Given the description of an element on the screen output the (x, y) to click on. 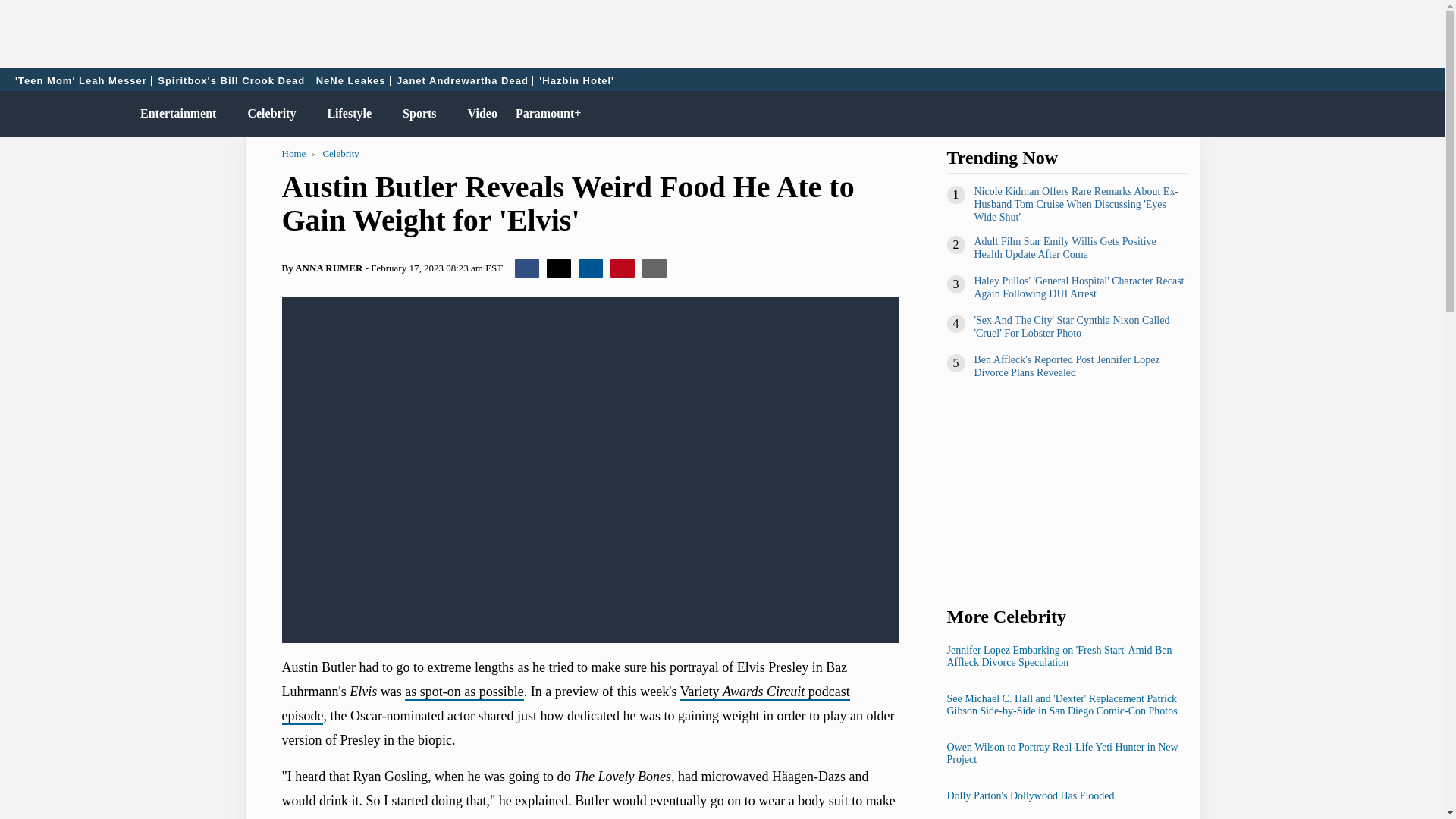
Janet Andrewartha Dead (462, 80)
Entertainment (175, 113)
Dark Mode (1394, 113)
'Hazbin Hotel' (576, 80)
Spiritbox's Bill Crook Dead (231, 80)
Video (479, 113)
'Teen Mom' Leah Messer (81, 80)
Sports (416, 113)
Celebrity (267, 113)
NeNe Leakes (351, 80)
Search (1426, 114)
Lifestyle (345, 113)
